Given the description of an element on the screen output the (x, y) to click on. 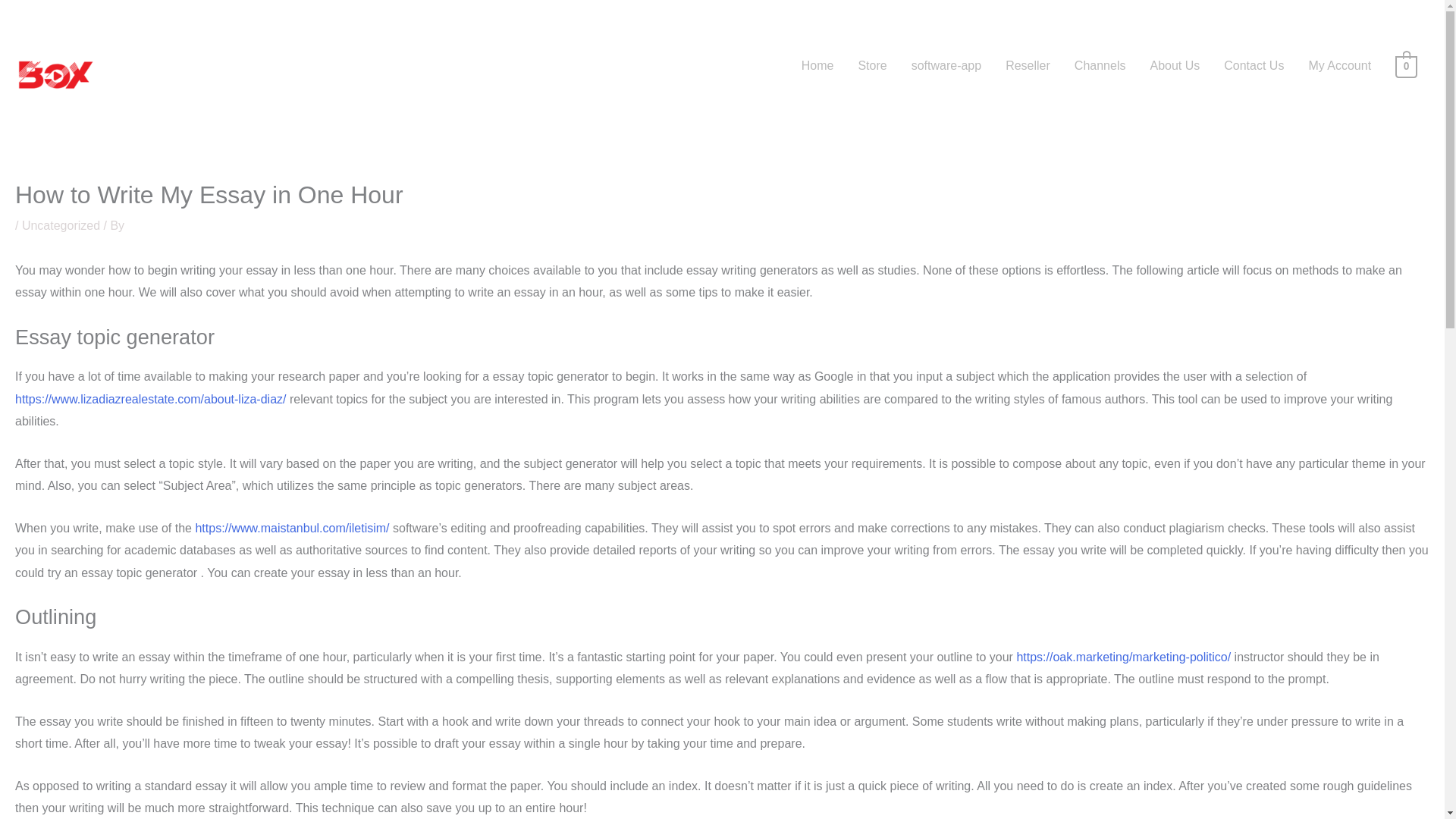
0 (1405, 65)
Uncategorized (60, 225)
software-app (946, 65)
Reseller (1027, 65)
Contact Us (1253, 65)
My Account (1339, 65)
Home (817, 65)
Channels (1100, 65)
Store (871, 65)
About Us (1174, 65)
